Given the description of an element on the screen output the (x, y) to click on. 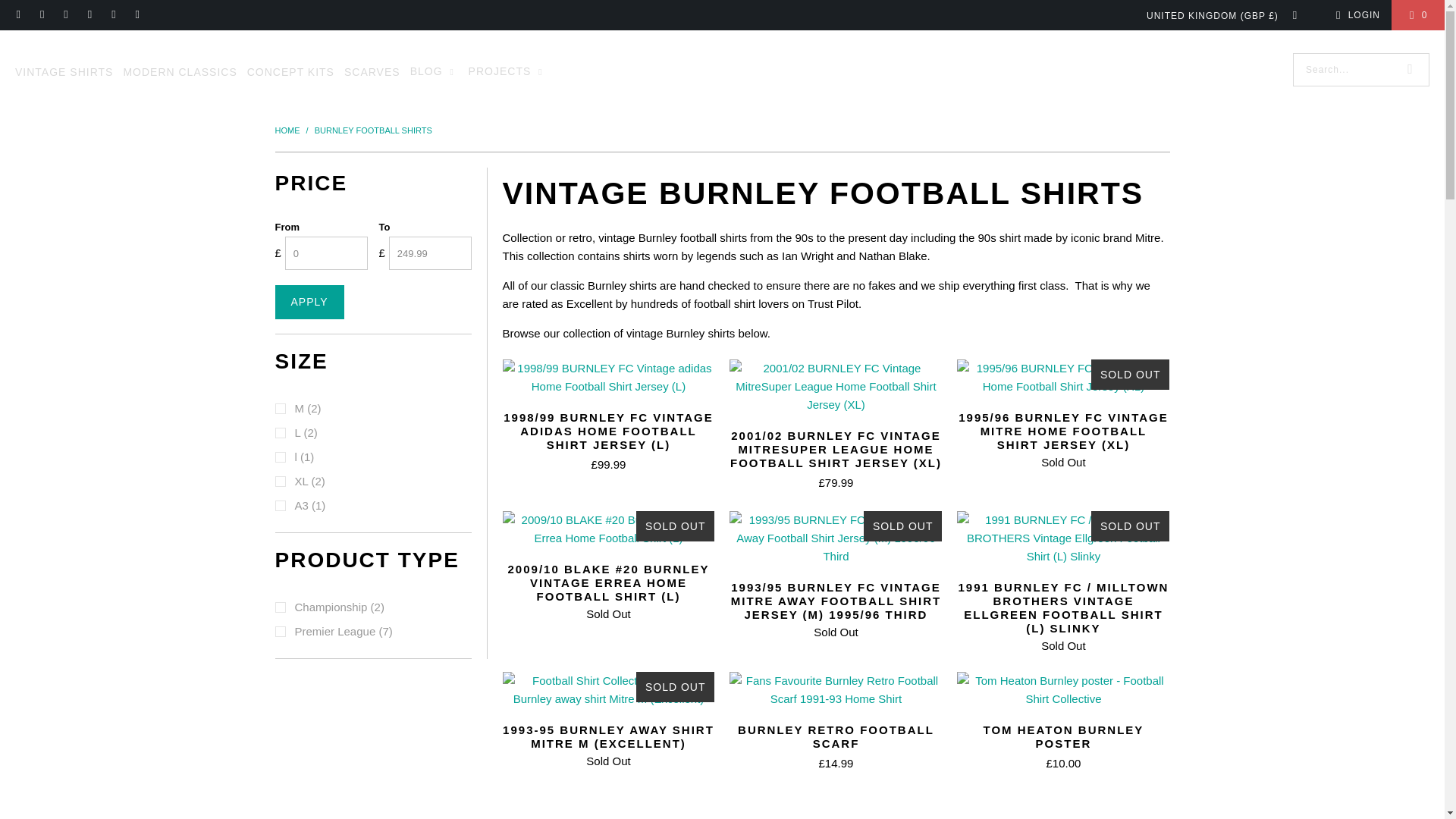
Apply (309, 302)
Football Shirt Collective on Facebook (41, 14)
Burnley football shirts (373, 130)
Football Shirt Collective on Twitter (112, 14)
Football Shirt Collective on Instagram (65, 14)
Email Football Shirt Collective (17, 14)
Football Shirt Collective on LinkedIn (89, 14)
Football Shirt Collective on YouTube (136, 14)
My Account  (1355, 14)
Football Shirt Collective (288, 130)
